Given the description of an element on the screen output the (x, y) to click on. 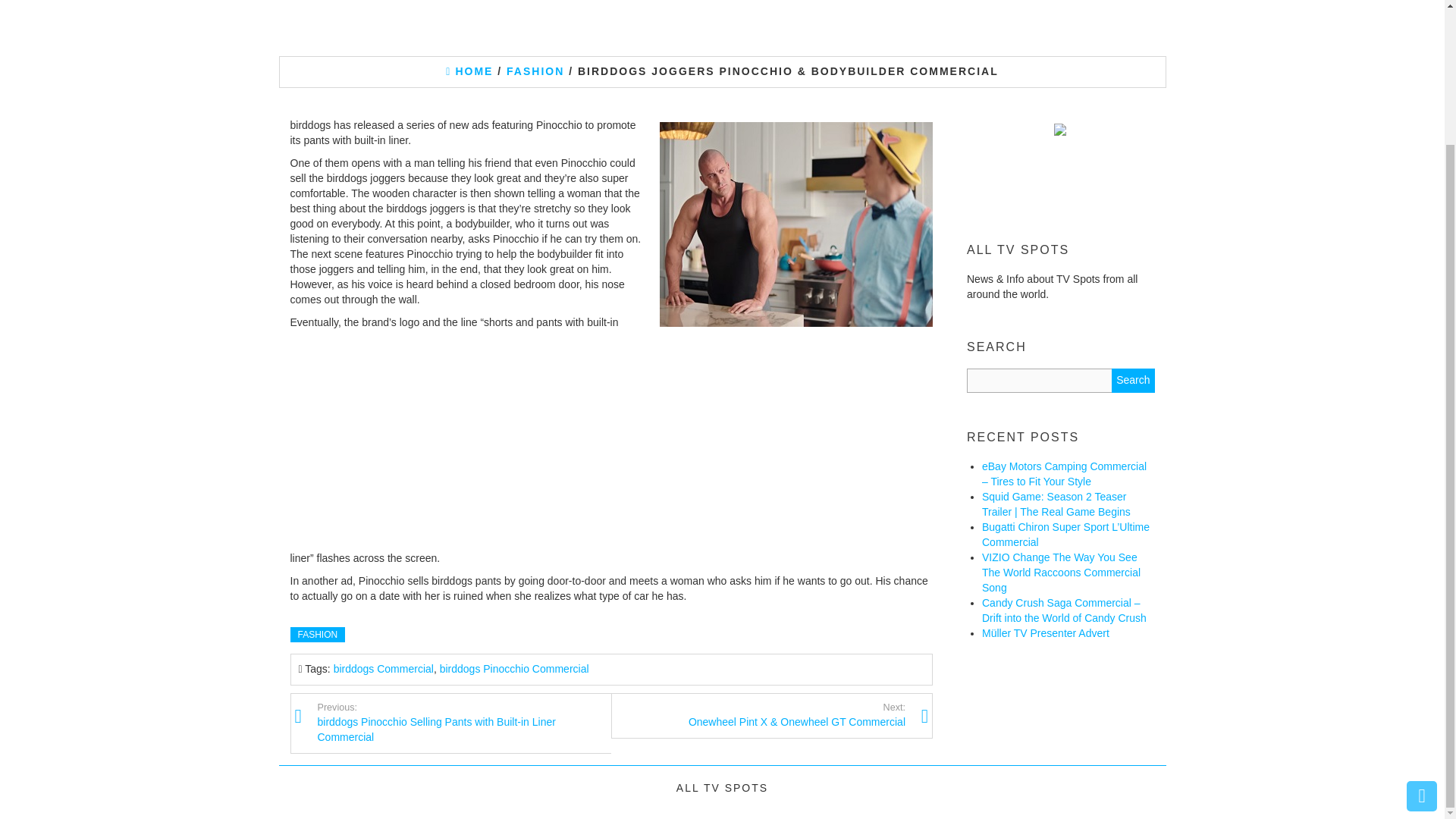
FASHION (535, 70)
birddogs Commercial (383, 668)
Search (1133, 380)
HOME (469, 70)
birddogs Pinocchio Commercial (514, 668)
Search (1133, 380)
FASHION (317, 634)
